Given the description of an element on the screen output the (x, y) to click on. 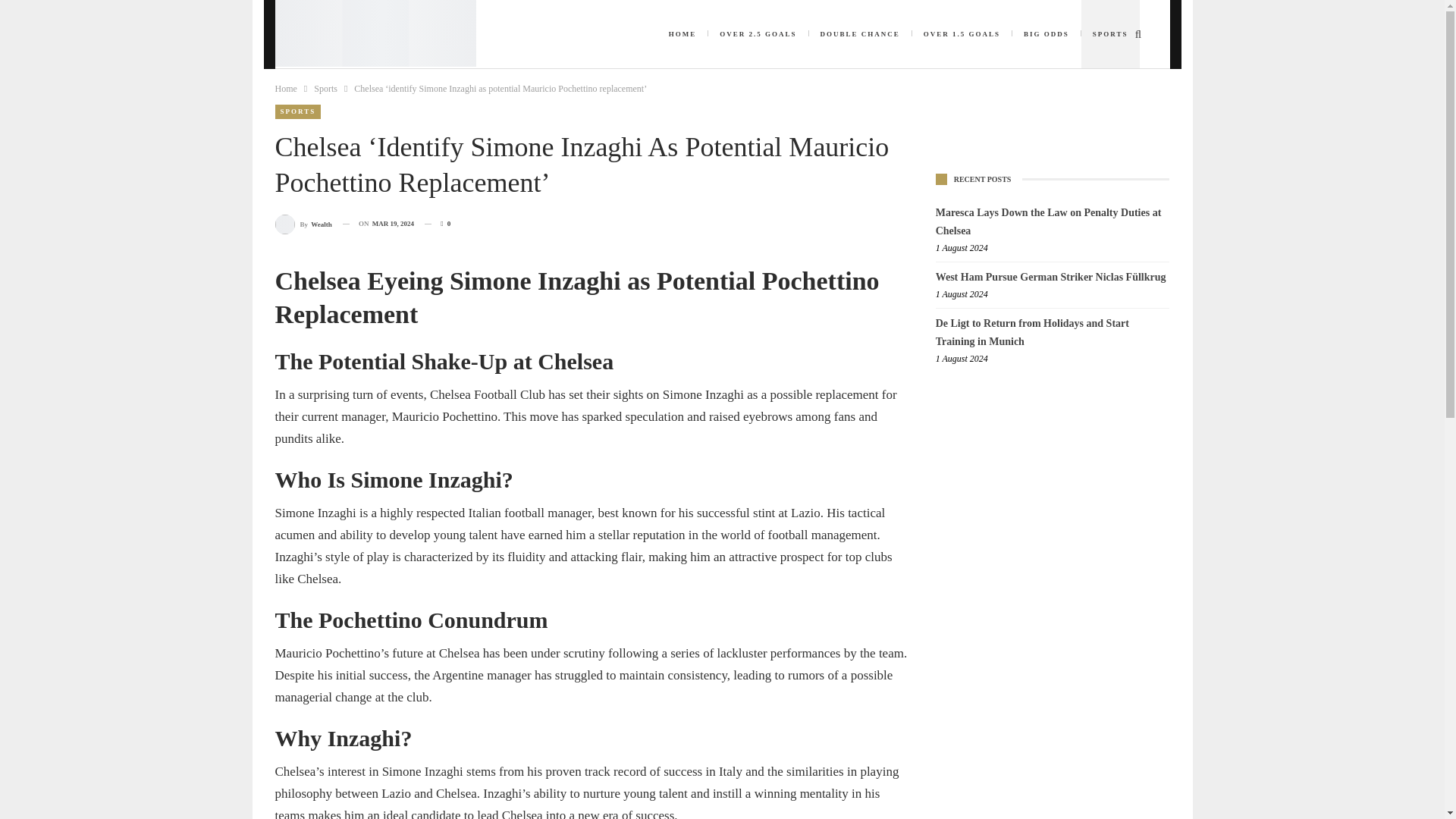
Browse Author Articles (303, 223)
Sports (325, 88)
BIG ODDS (1045, 33)
OVER 1.5 GOALS (961, 33)
SPORTS (297, 111)
Maresca Lays Down the Law on Penalty Duties at Chelsea (1048, 221)
By Wealth (303, 223)
DOUBLE CHANCE (859, 33)
0 (437, 223)
Home (286, 88)
OVER 2.5 GOALS (757, 33)
